Given the description of an element on the screen output the (x, y) to click on. 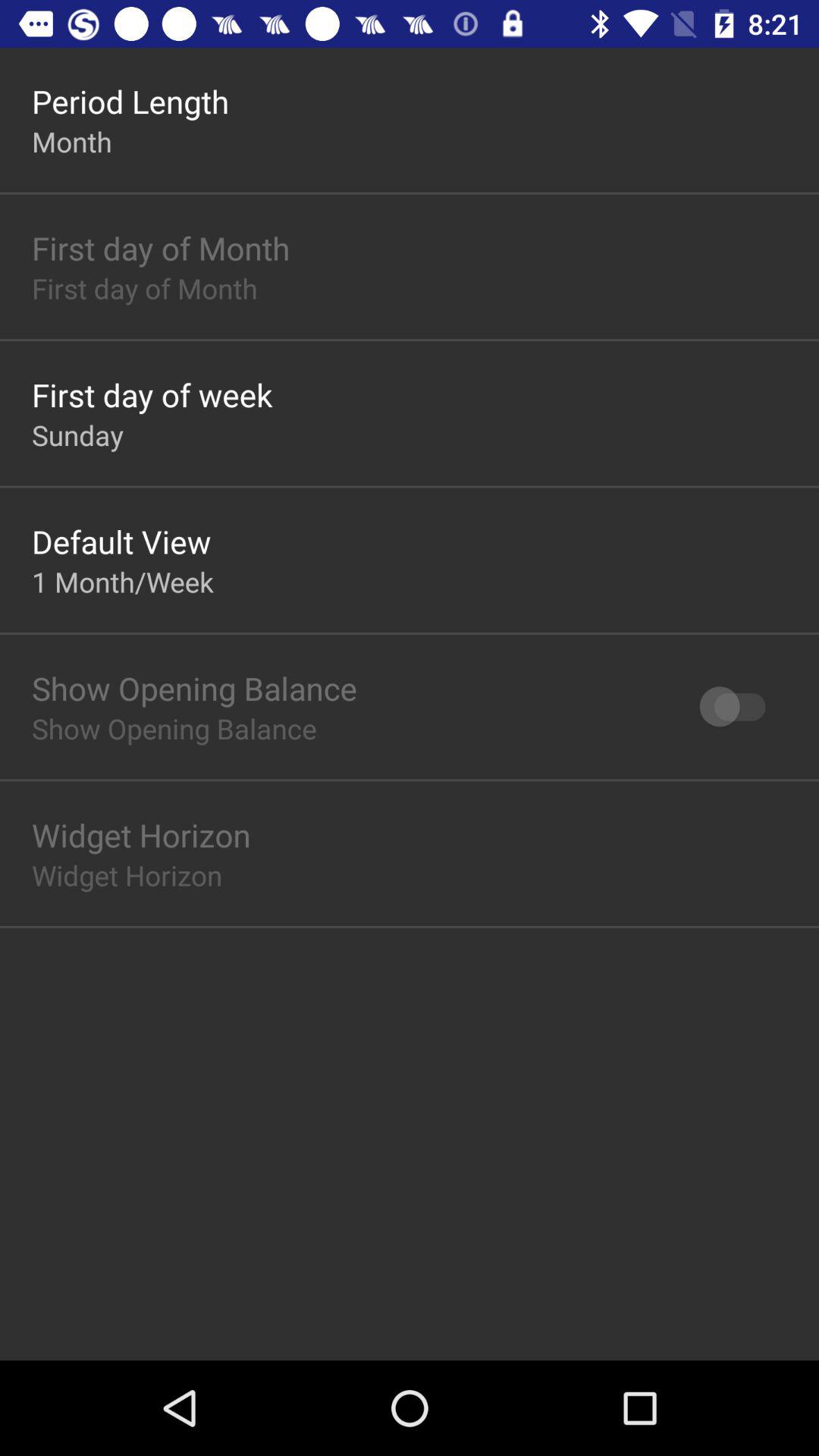
select the item above the show opening balance icon (122, 581)
